Given the description of an element on the screen output the (x, y) to click on. 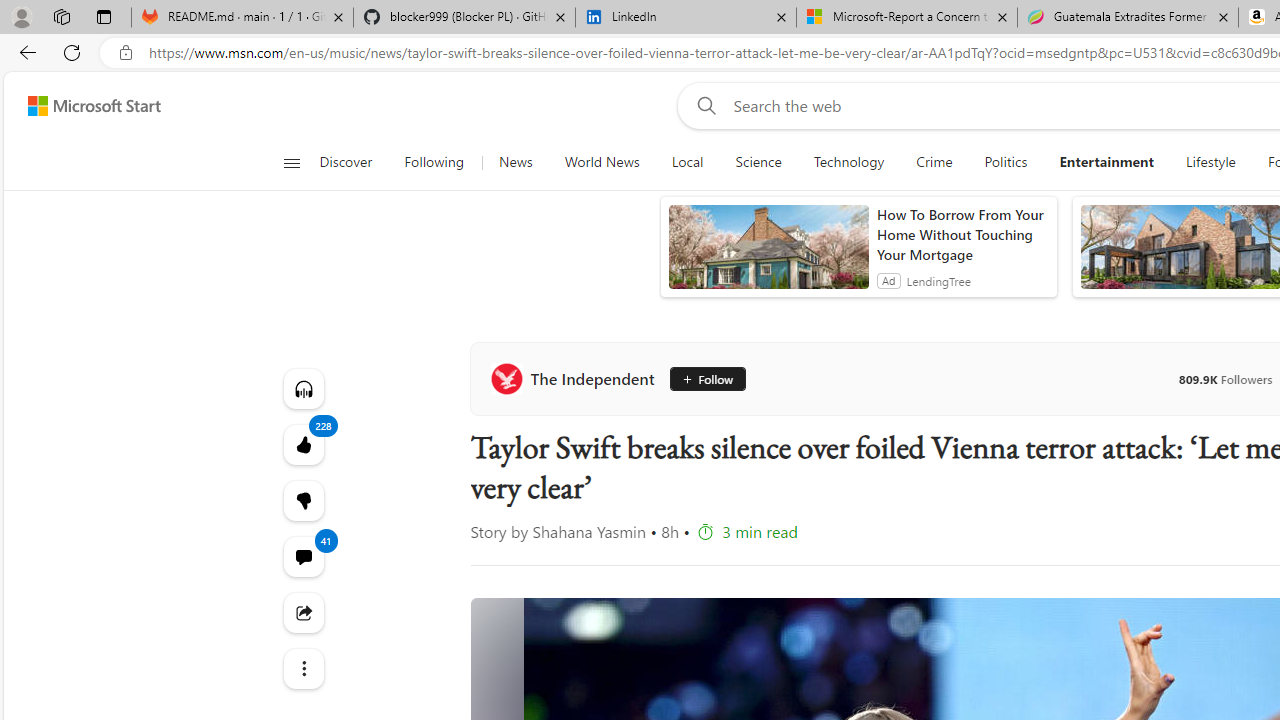
Listen to this article (302, 388)
Class: at-item (302, 668)
anim-content (768, 255)
